Given the description of an element on the screen output the (x, y) to click on. 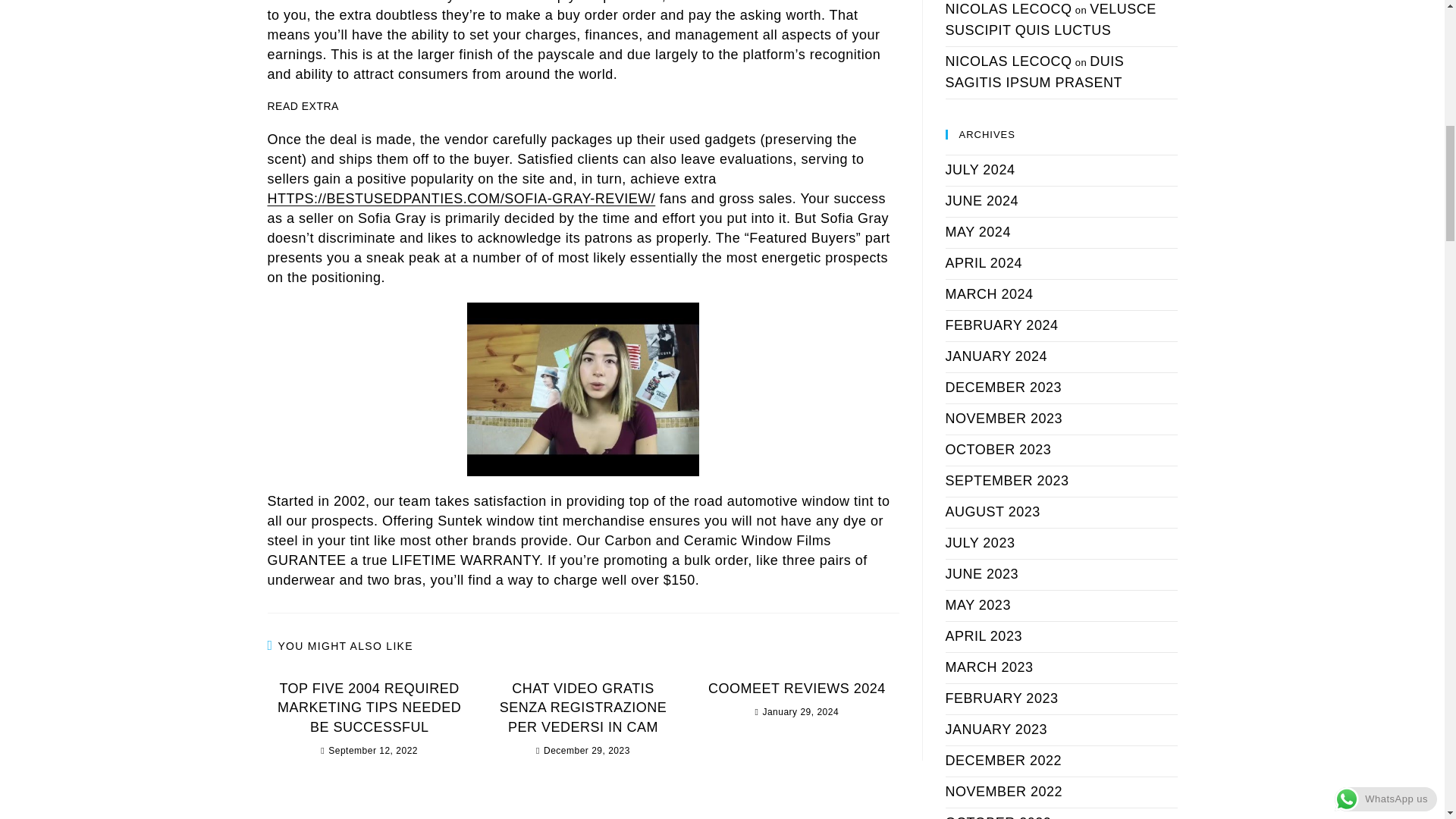
Coomeet Reviews 2024 (796, 688)
Top Five 2004 Required Marketing Tips Needed Be Successful (368, 708)
TOP FIVE 2004 REQUIRED MARKETING TIPS NEEDED BE SUCCESSFUL (368, 708)
CHAT VIDEO GRATIS SENZA REGISTRAZIONE PER VEDERSI IN CAM (582, 708)
Chat Video Gratis Senza Registrazione Per Vedersi In Cam (582, 708)
COOMEET REVIEWS 2024 (796, 688)
